Given the description of an element on the screen output the (x, y) to click on. 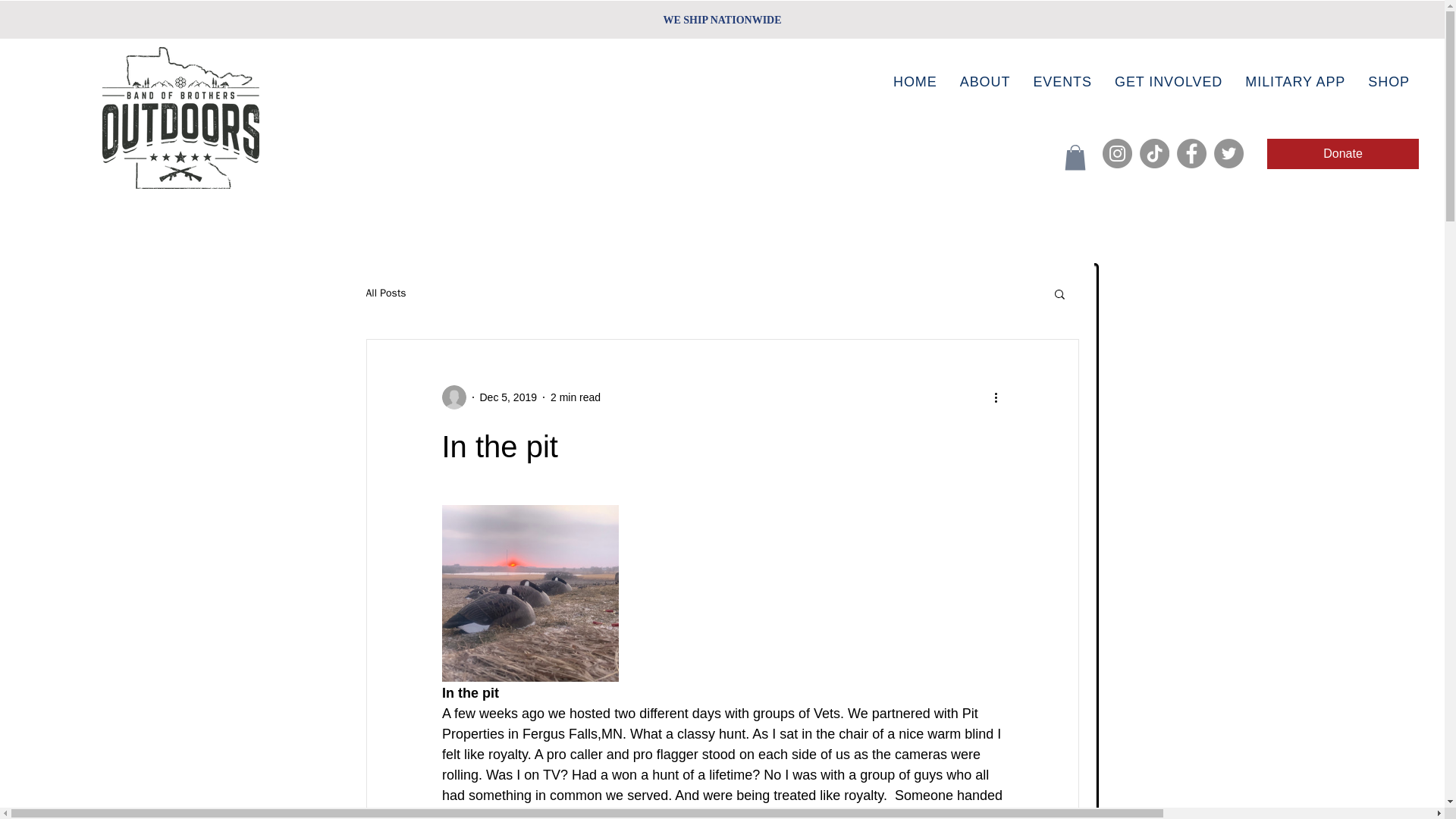
2 min read (574, 397)
Dec 5, 2019 (508, 397)
SHOP (1388, 81)
WE SHIP NATIONWIDE (721, 19)
EVENTS (1062, 81)
All Posts (385, 293)
HOME (914, 81)
MILITARY APP (1295, 81)
ABOUT (985, 81)
Donate (1342, 153)
